Given the description of an element on the screen output the (x, y) to click on. 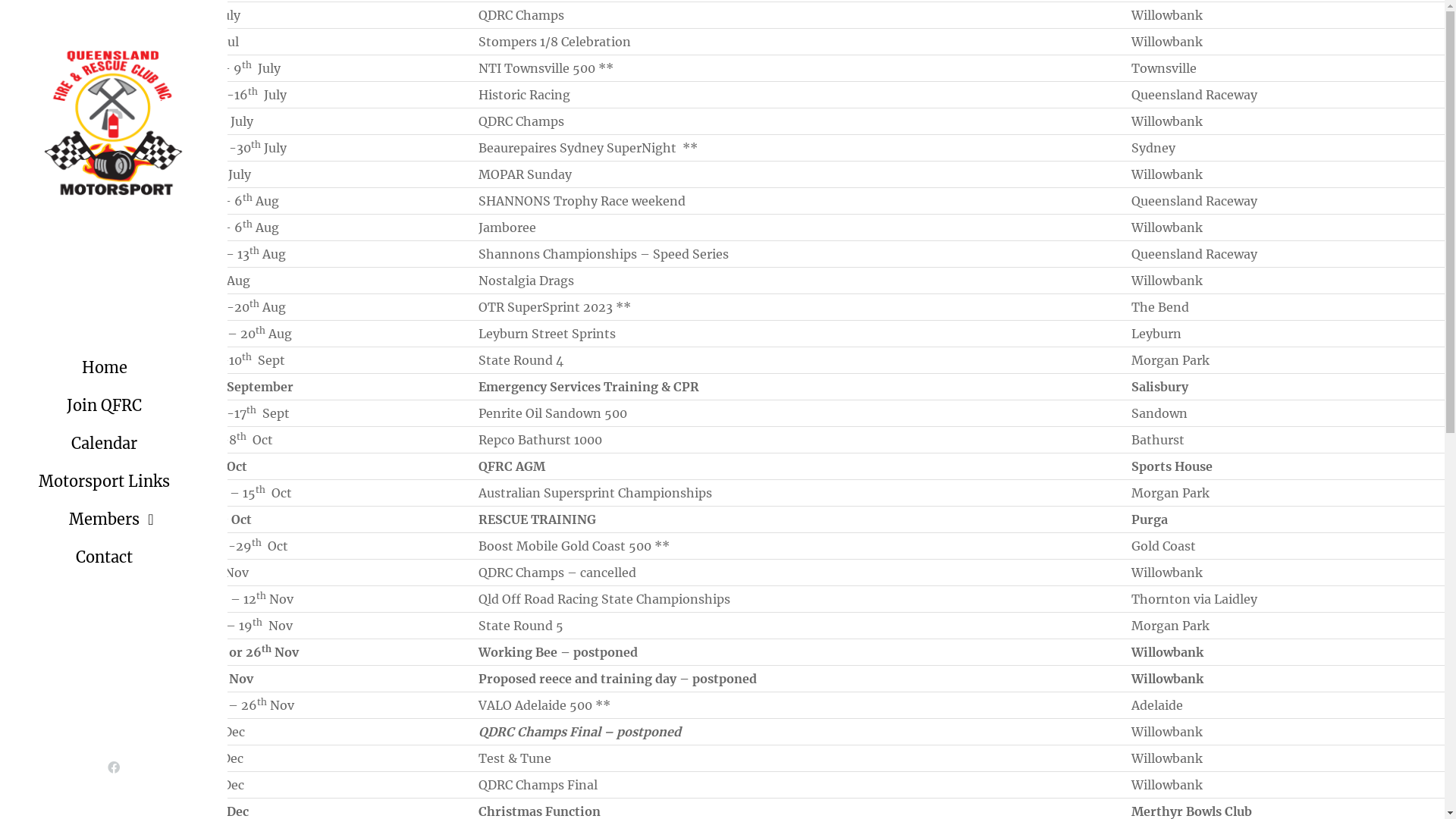
Home Element type: text (113, 367)
Members Element type: text (113, 519)
Join QFRC Element type: text (113, 405)
Calendar Element type: text (113, 443)
Contact Element type: text (113, 556)
Motorsport Links Element type: text (113, 481)
